Given the description of an element on the screen output the (x, y) to click on. 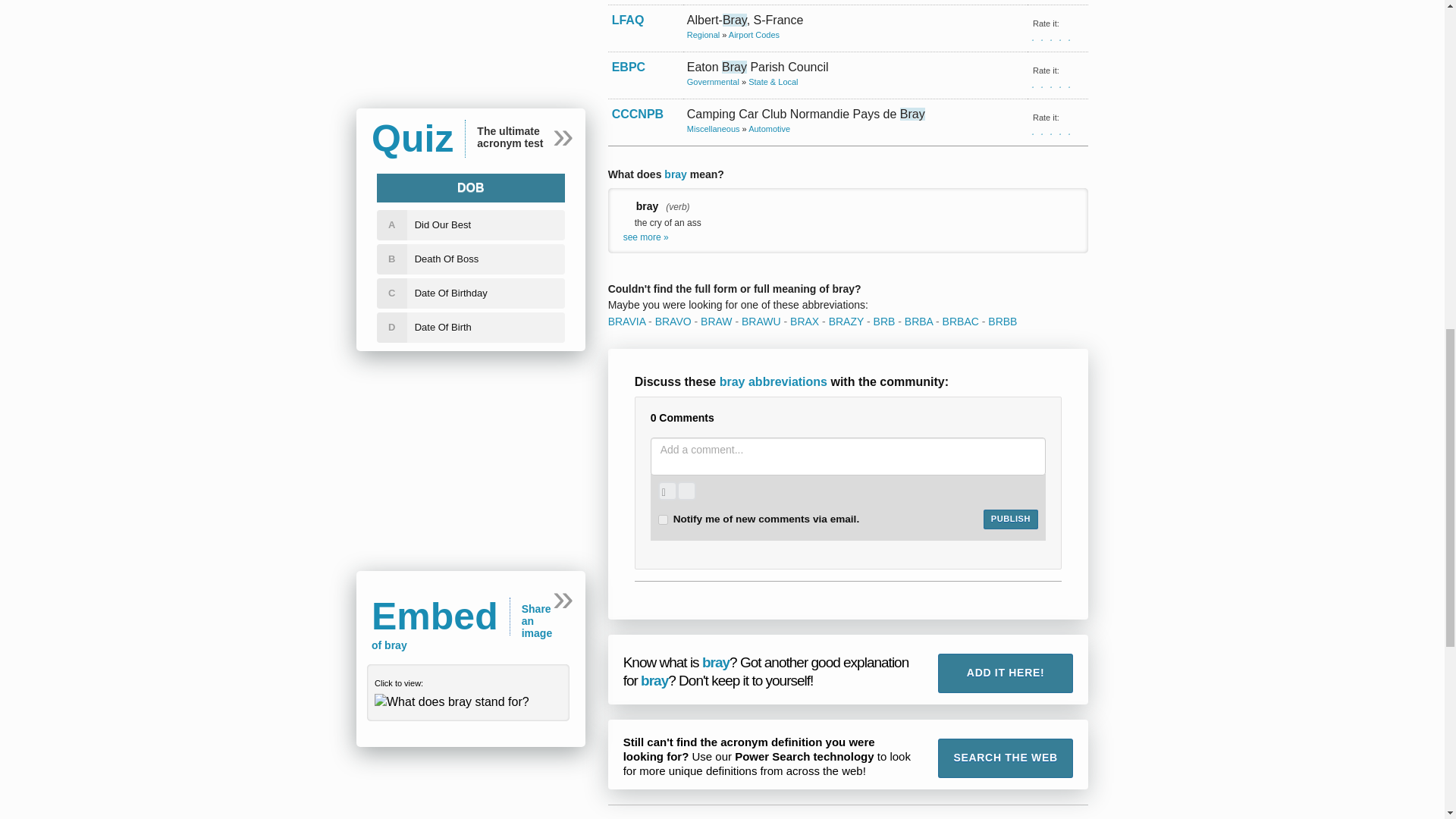
Record a sound (686, 490)
on (663, 519)
Upload an image (667, 490)
